Given the description of an element on the screen output the (x, y) to click on. 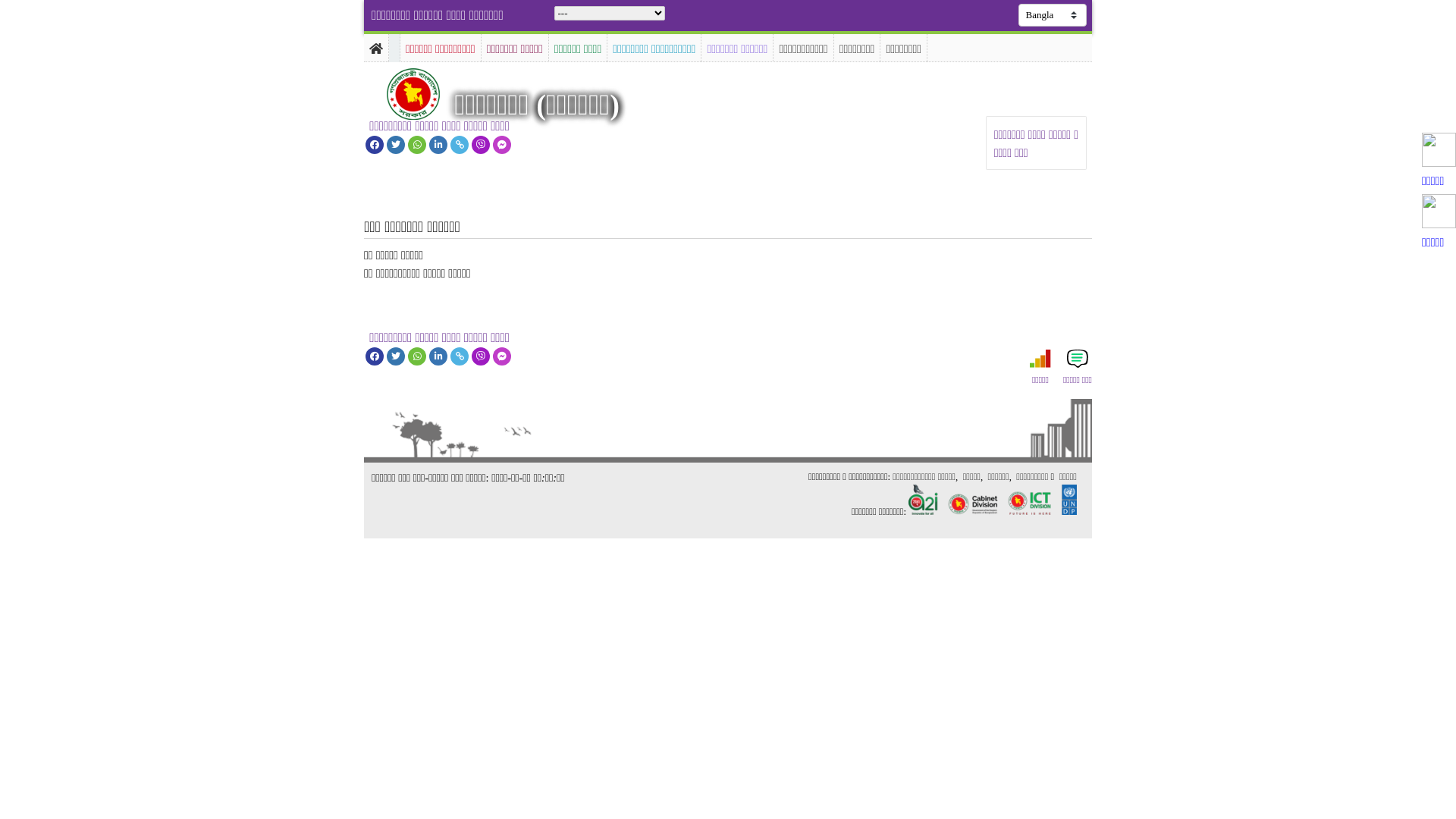

                
             Element type: hover (426, 93)
